Given the description of an element on the screen output the (x, y) to click on. 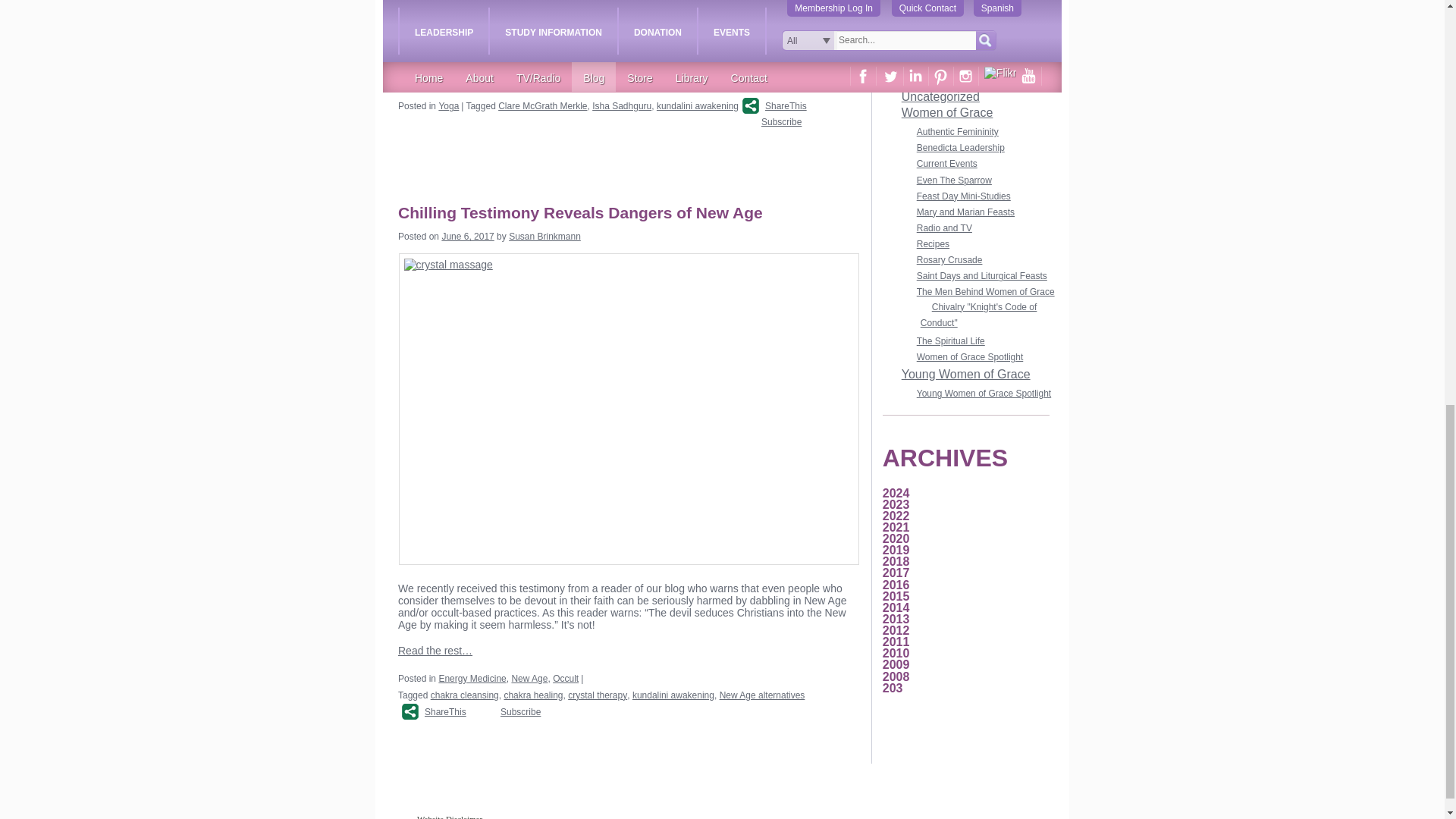
June 6, 2017 (467, 235)
Permalink to Chilling Testimony Reveals Dangers of New Age (585, 212)
Subscribe (770, 120)
kundalini awakening (697, 105)
Susan Brinkmann (544, 235)
Clare McGrath Merkle (541, 105)
Isha Sadhguru (621, 105)
Yoga (448, 105)
Chilling Testimony Reveals Dangers of New Age (585, 212)
